Given the description of an element on the screen output the (x, y) to click on. 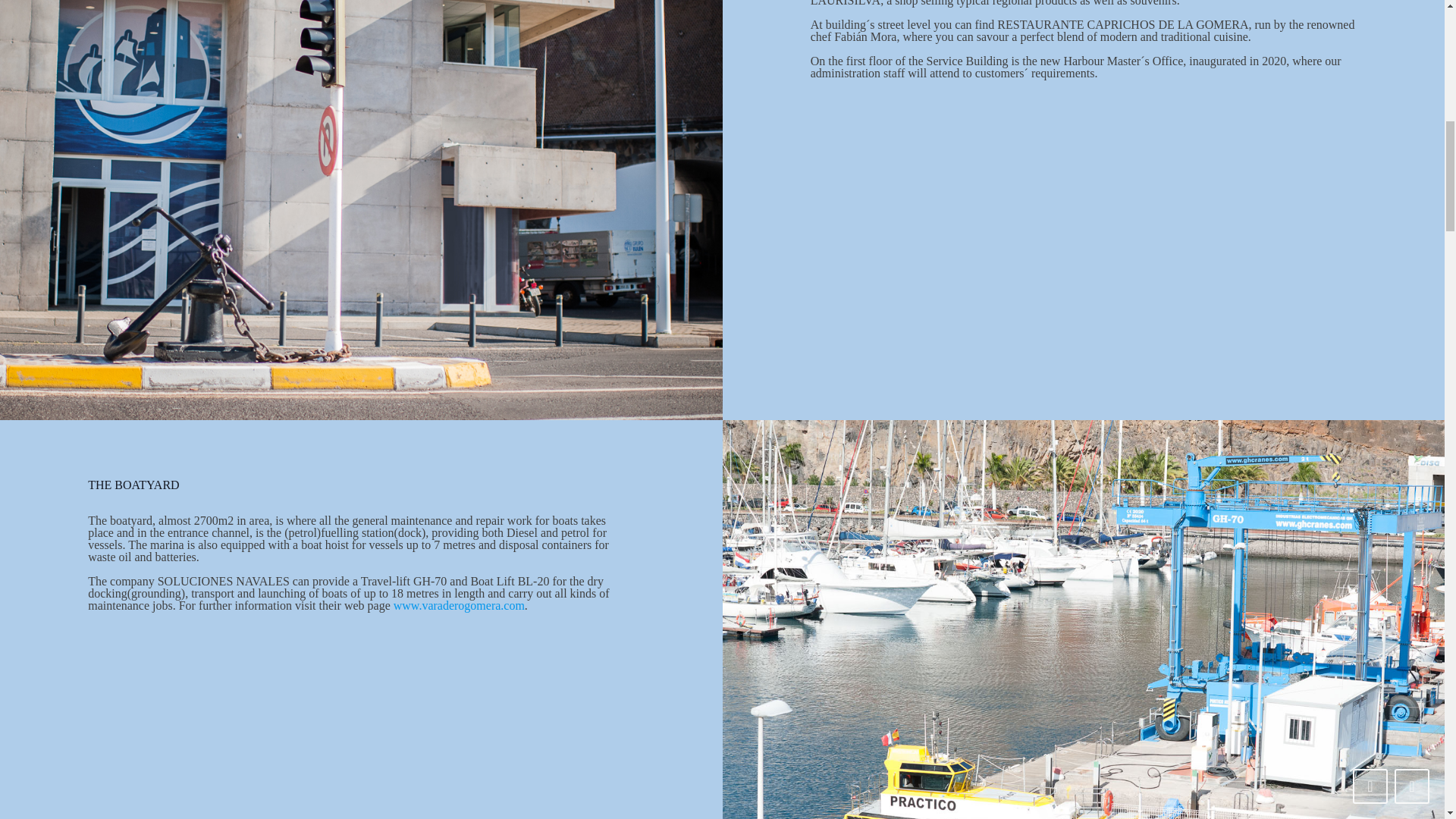
www.varaderogomera.com (458, 604)
